Given the description of an element on the screen output the (x, y) to click on. 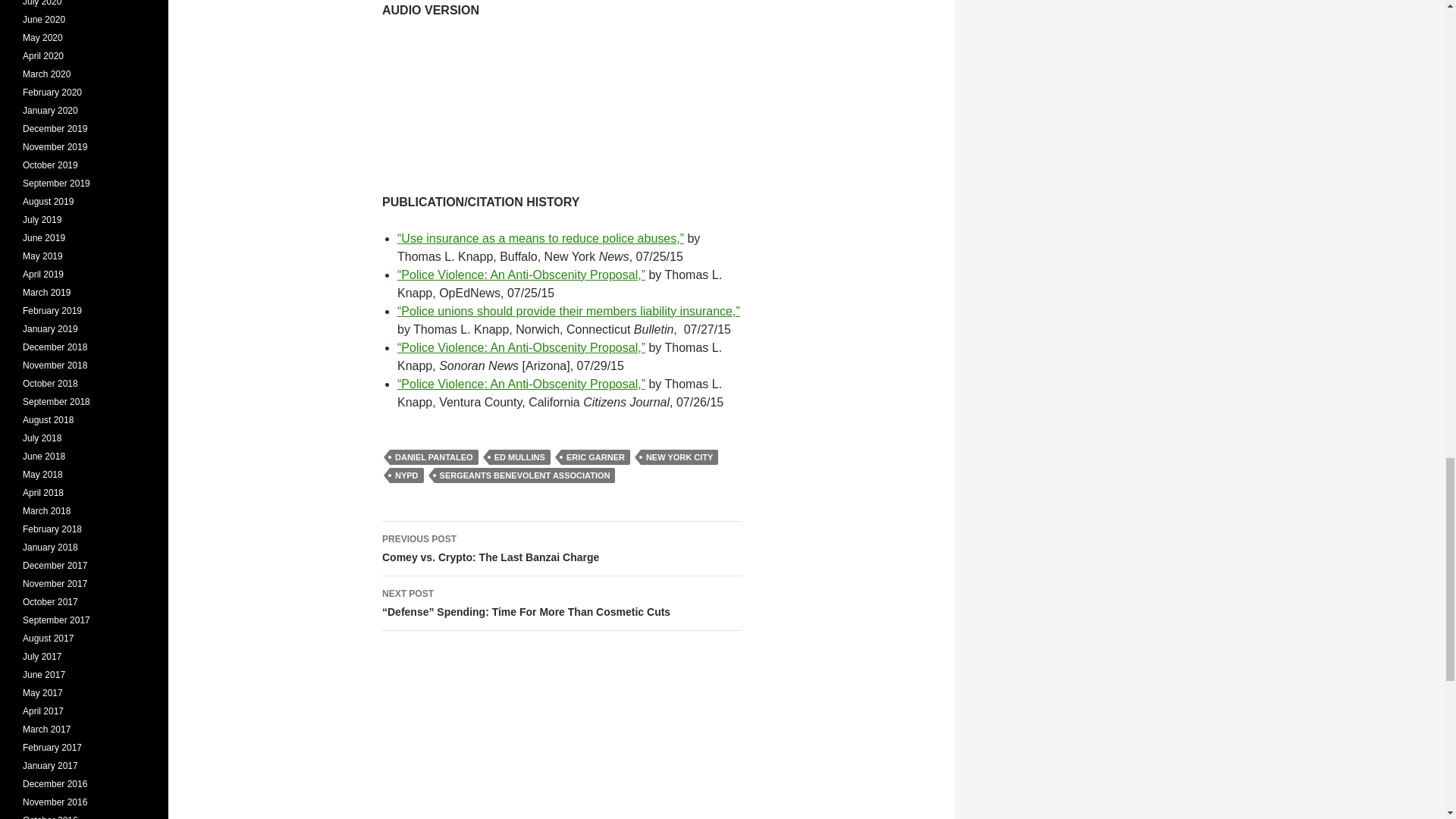
ERIC GARNER (595, 457)
SERGEANTS BENEVOLENT ASSOCIATION (524, 475)
NYPD (406, 475)
ED MULLINS (519, 457)
DANIEL PANTALEO (561, 548)
NEW YORK CITY (434, 457)
